Given the description of an element on the screen output the (x, y) to click on. 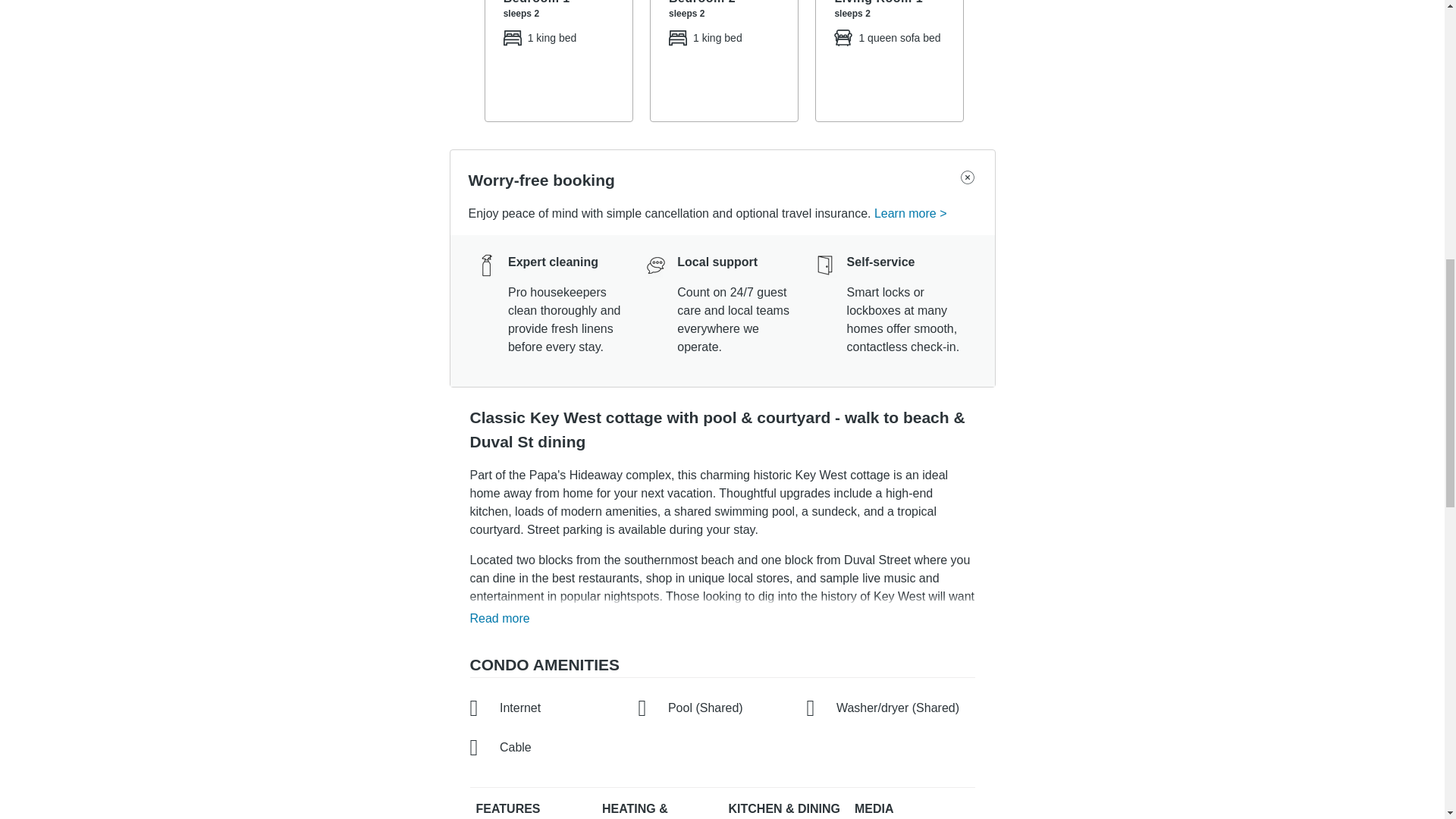
Read more  (504, 618)
